Given the description of an element on the screen output the (x, y) to click on. 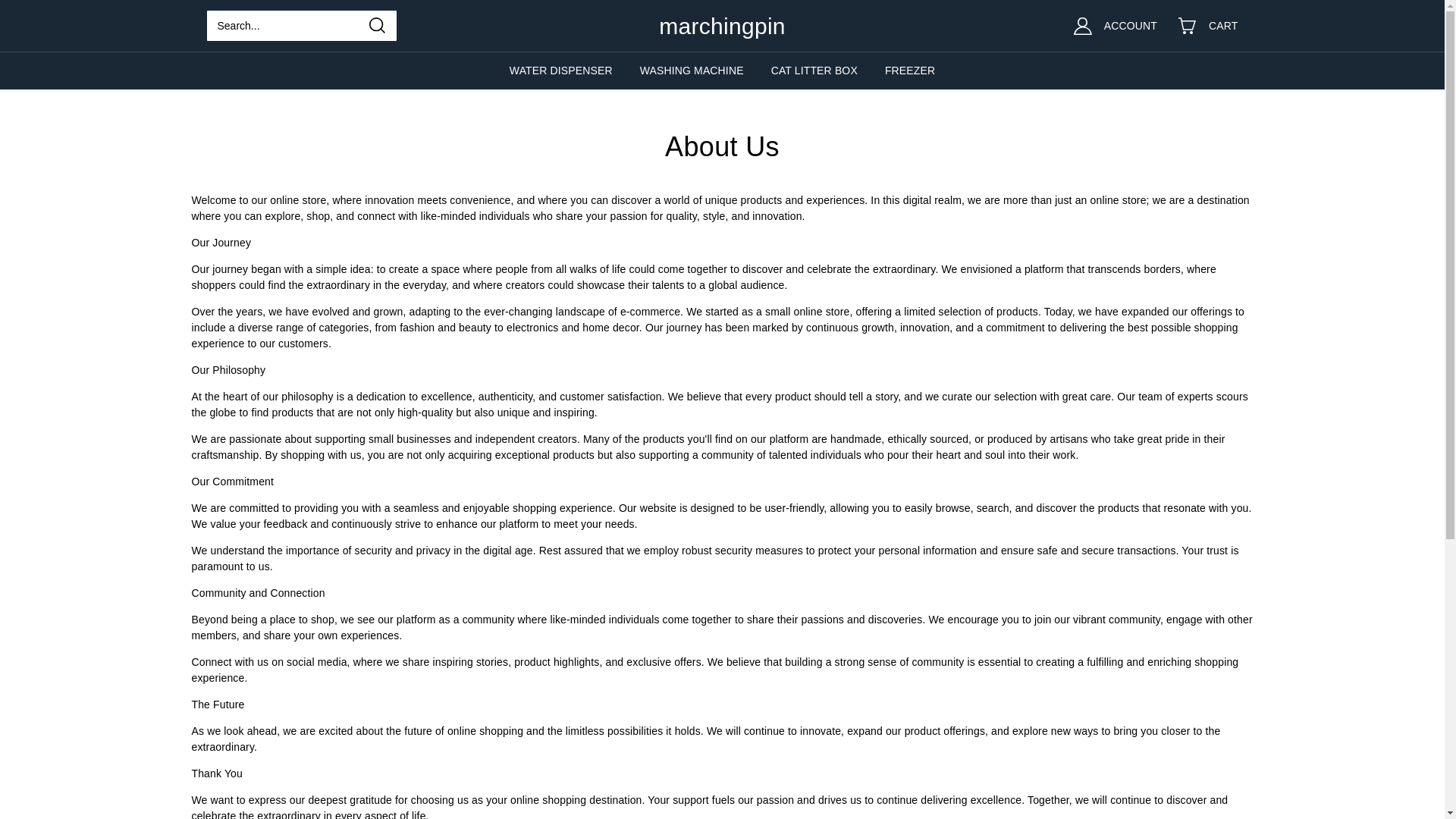
WATER DISPENSER (560, 70)
CART (1216, 25)
marchingpin (721, 25)
FREEZER (909, 70)
WASHING MACHINE (692, 70)
CAT LITTER BOX (814, 70)
